Given the description of an element on the screen output the (x, y) to click on. 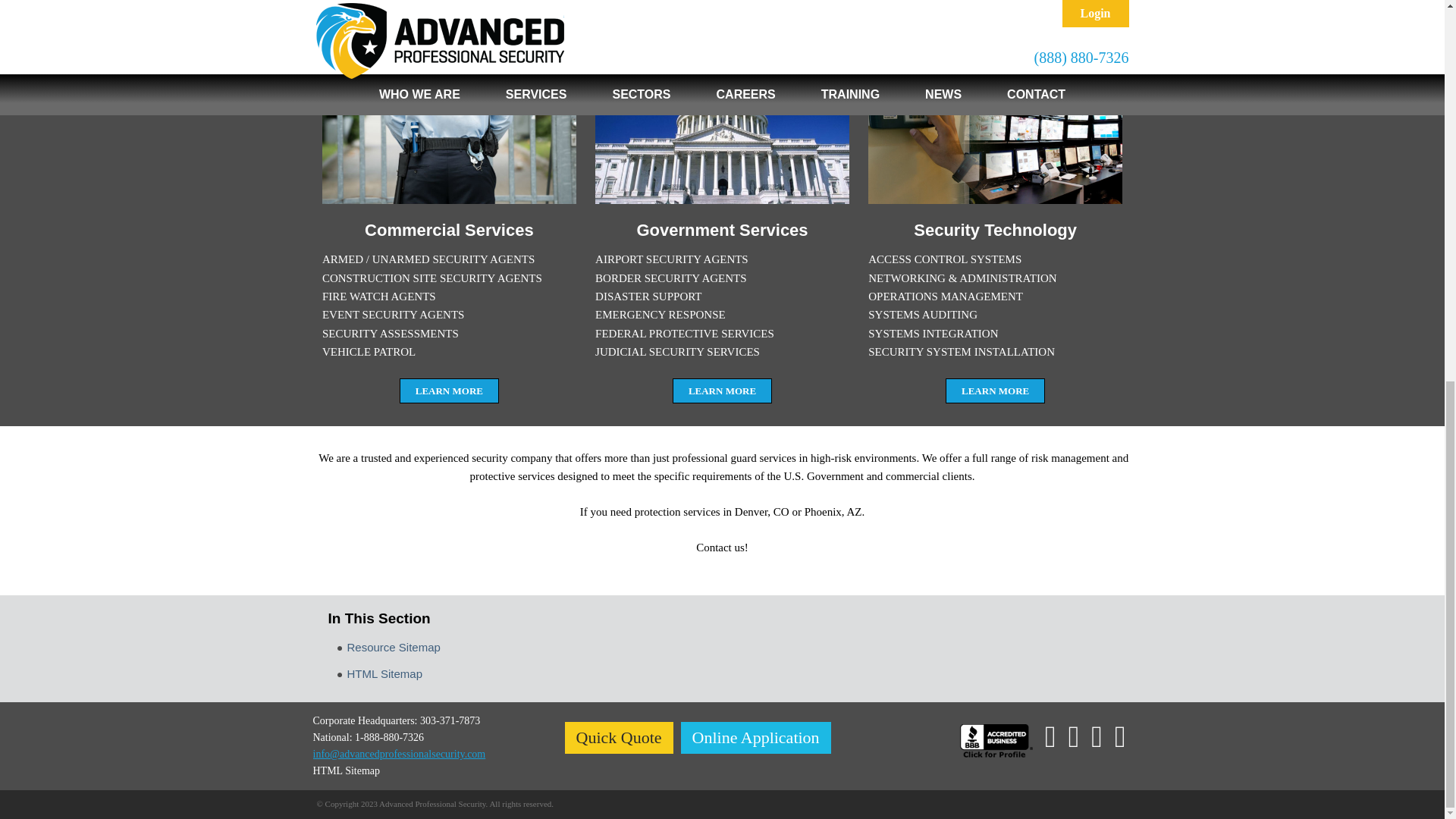
Twitter (1051, 736)
LinkedIn (1074, 736)
